Given the description of an element on the screen output the (x, y) to click on. 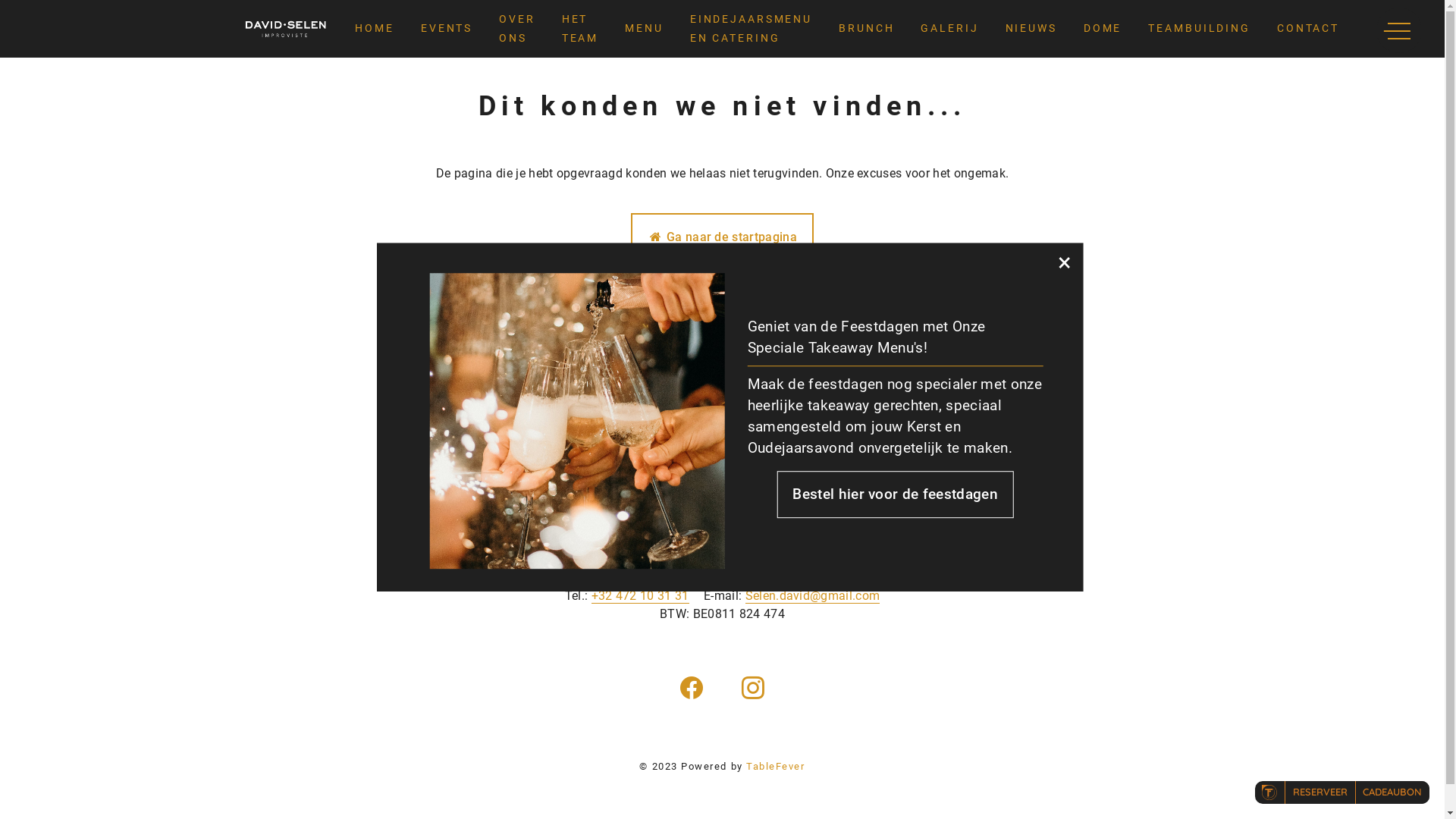
HOME Element type: text (374, 28)
BRUNCH Element type: text (866, 28)
+32 472 10 31 31 Element type: text (640, 596)
Bestel hier voor de feestdagen Element type: text (894, 493)
MENU Element type: text (643, 28)
DOME Element type: text (1102, 28)
OVER ONS Element type: text (516, 28)
Ga naar de startpagina Element type: text (721, 237)
Selen.david@gmail.com Element type: text (812, 596)
TableFever Element type: text (775, 766)
CONTACT Element type: text (1308, 28)
TEAMBUILDING Element type: text (1199, 28)
EINDEJAARSMENU EN CATERING Element type: text (751, 28)
GALERIJ Element type: text (949, 28)
NIEUWS Element type: text (1031, 28)
HET TEAM Element type: text (580, 28)
EVENTS Element type: text (446, 28)
